Given the description of an element on the screen output the (x, y) to click on. 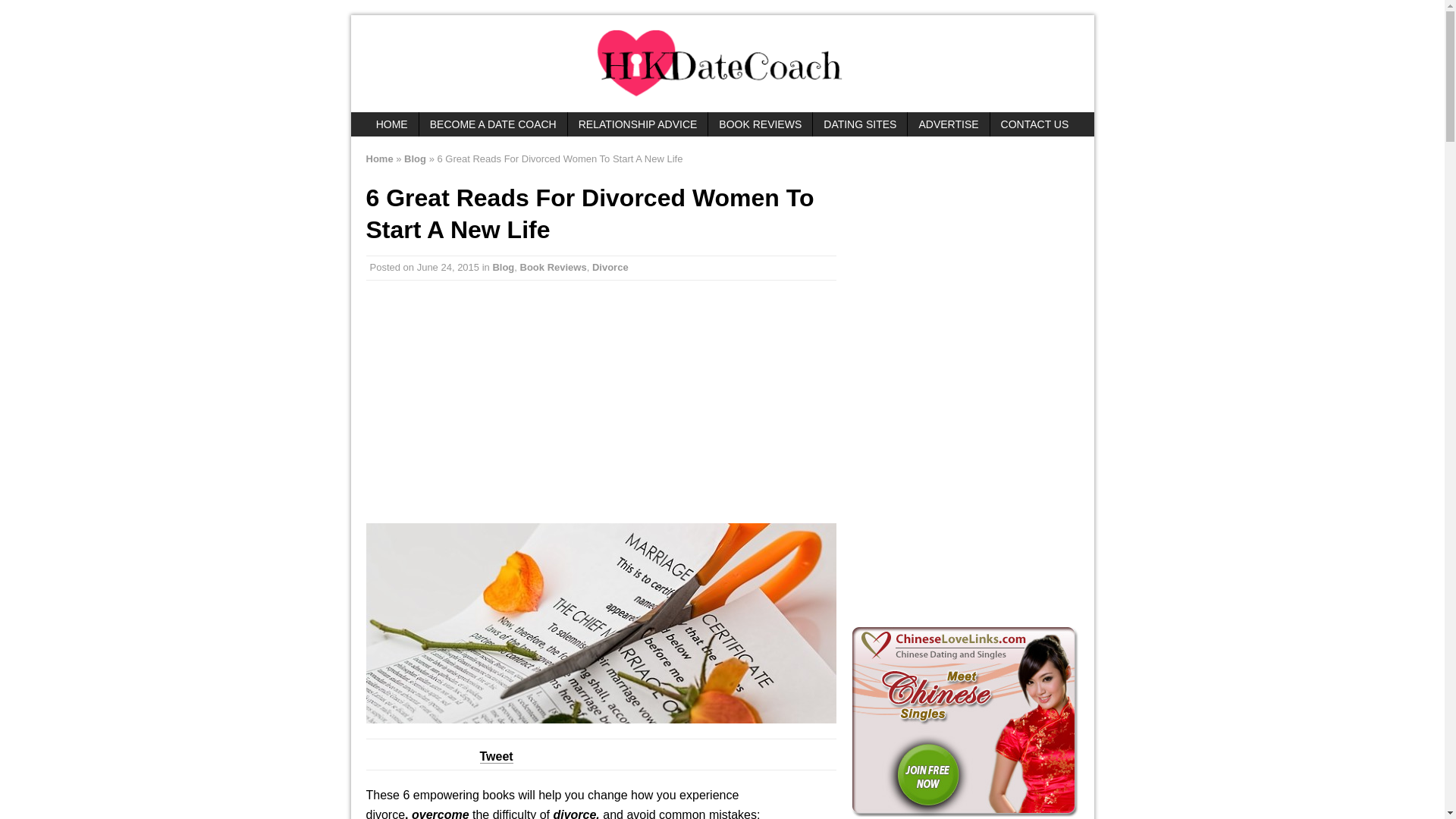
RELATIONSHIP ADVICE (637, 124)
HOME (392, 124)
Advertisement (964, 378)
Book Reviews (552, 266)
DATING SITES (859, 124)
Home (379, 158)
Divorce (610, 266)
BOOK REVIEWS (759, 124)
Blog (502, 266)
ADVERTISE (947, 124)
BECOME A DATE COACH (493, 124)
6 Great Reads For Divorced Women To Start A New Life (600, 623)
CONTACT US (1035, 124)
HK Date Coach (721, 63)
Tweet (495, 756)
